Given the description of an element on the screen output the (x, y) to click on. 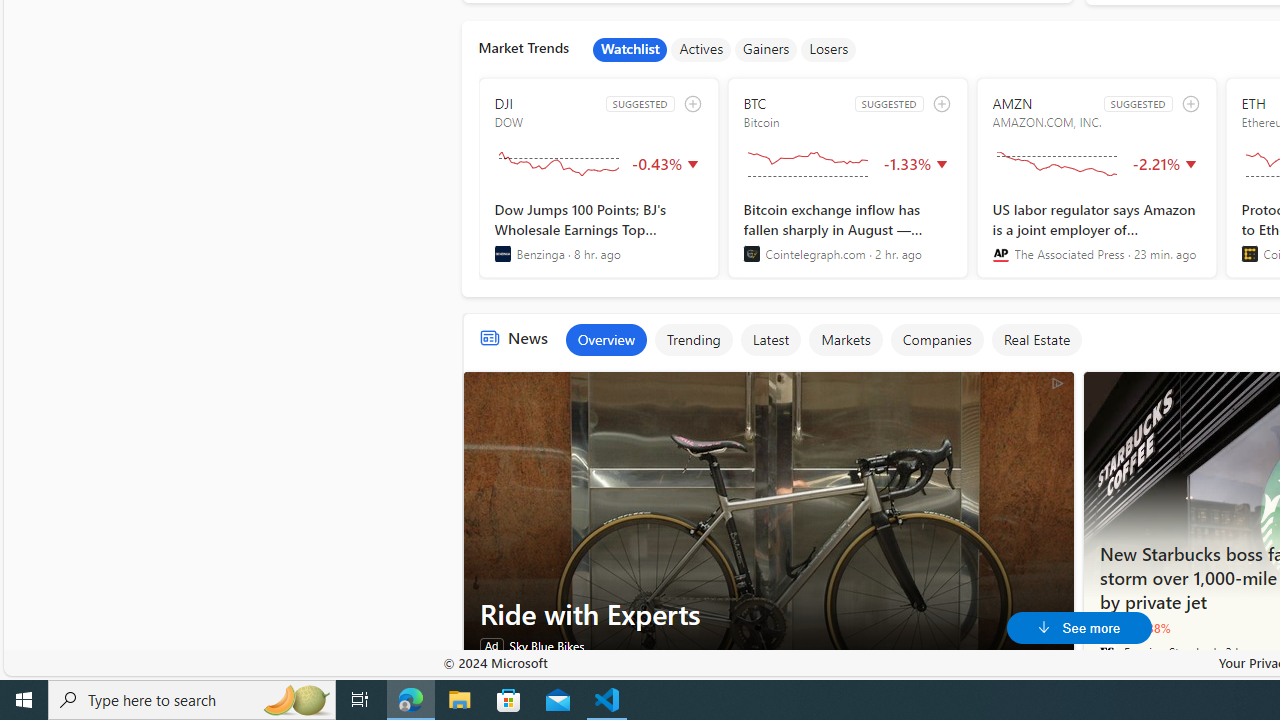
Dow Jumps 100 Points; BJ's Wholesale Earnings Top Estimates (598, 231)
Benzinga (502, 254)
Markets (845, 339)
DJI SUGGESTED DOW (598, 178)
Overview (605, 339)
AdChoices (1056, 382)
Actives (701, 49)
Latest (770, 339)
SBUX -0.38% (1135, 627)
Gainers (765, 49)
Ride with Experts (768, 614)
The Associated Press (1000, 254)
